Given the description of an element on the screen output the (x, y) to click on. 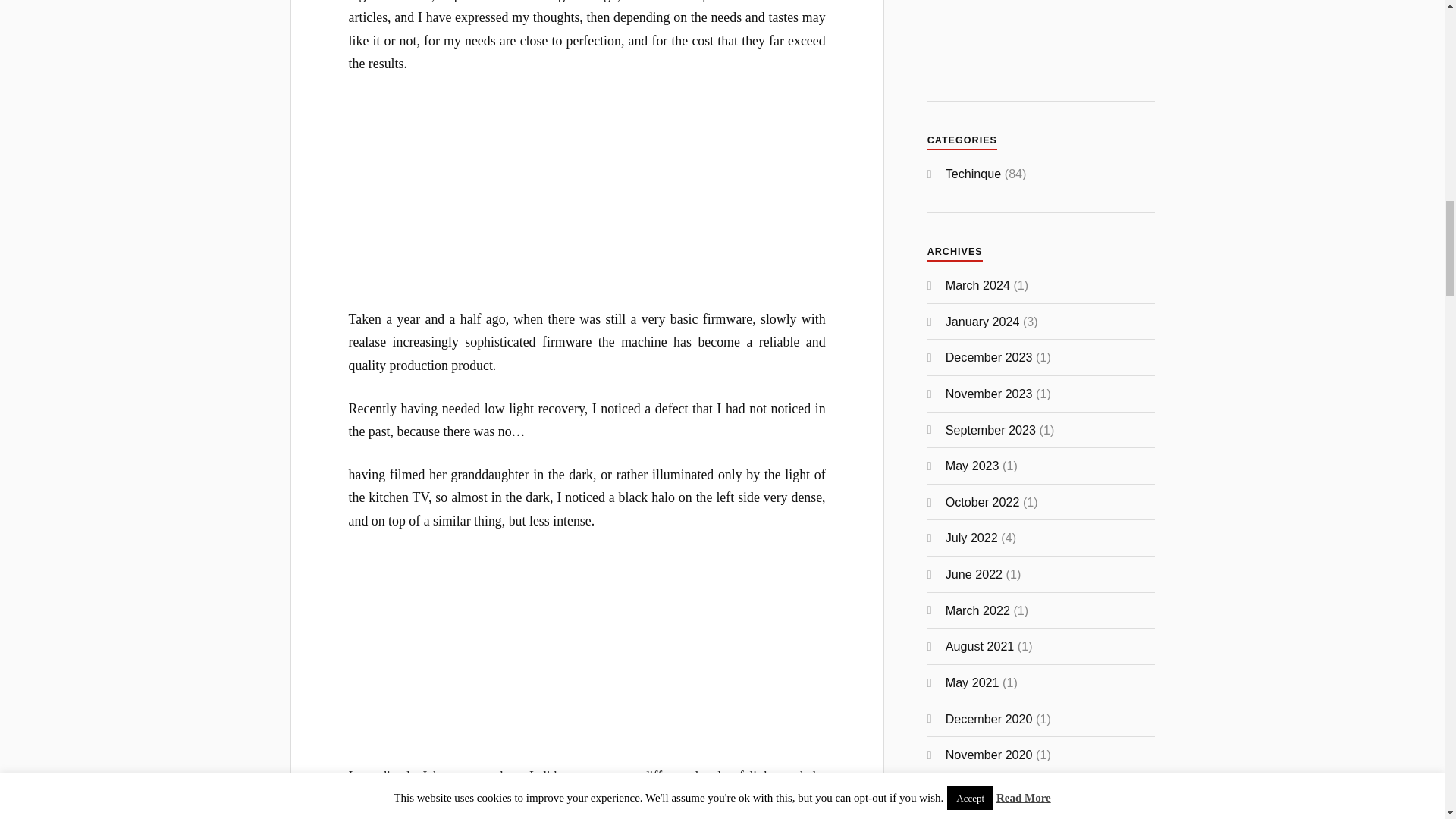
Advertisement (587, 201)
Advertisement (1040, 35)
Advertisement (587, 658)
